Given the description of an element on the screen output the (x, y) to click on. 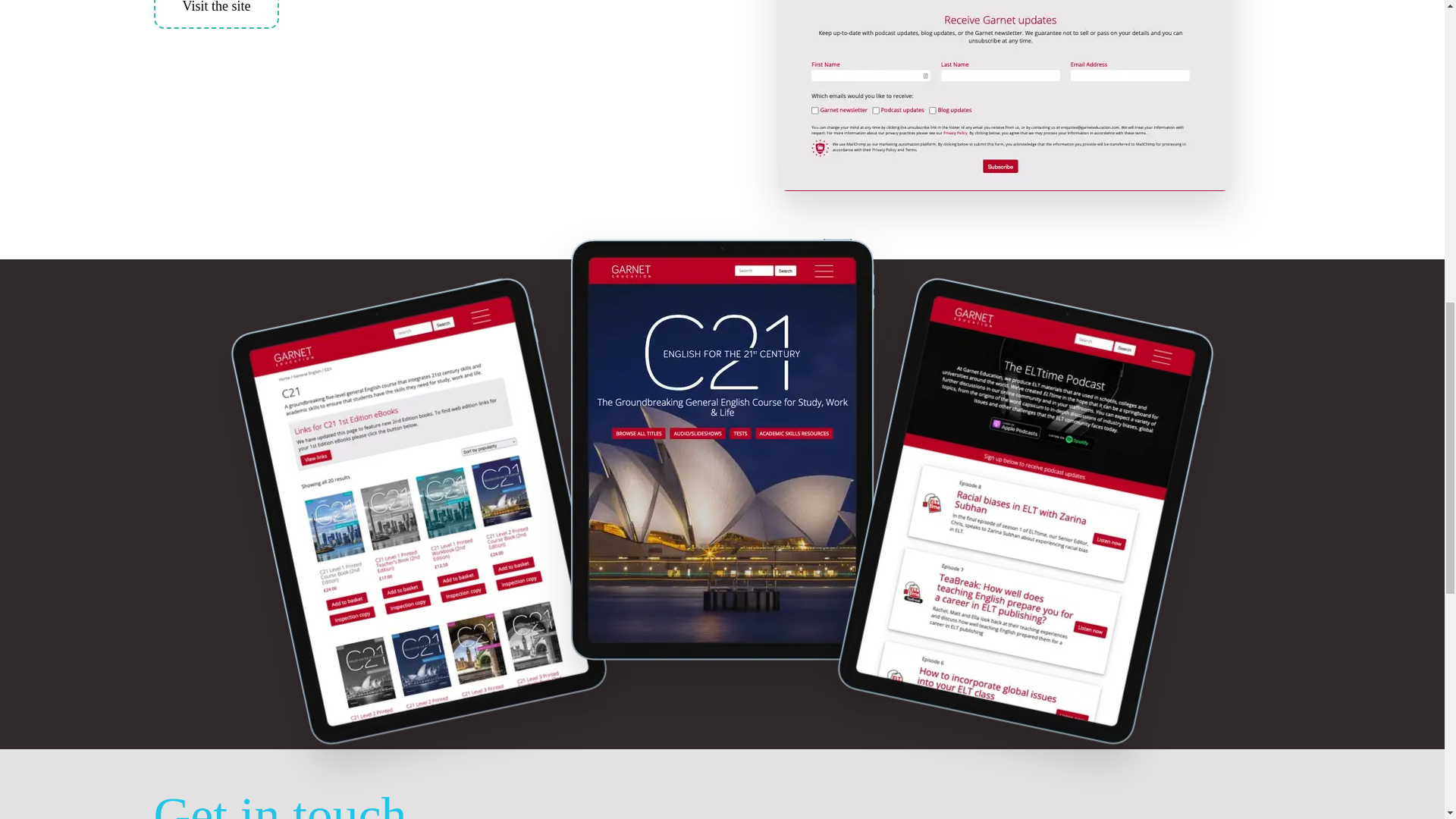
Visit the site (215, 14)
